Given the description of an element on the screen output the (x, y) to click on. 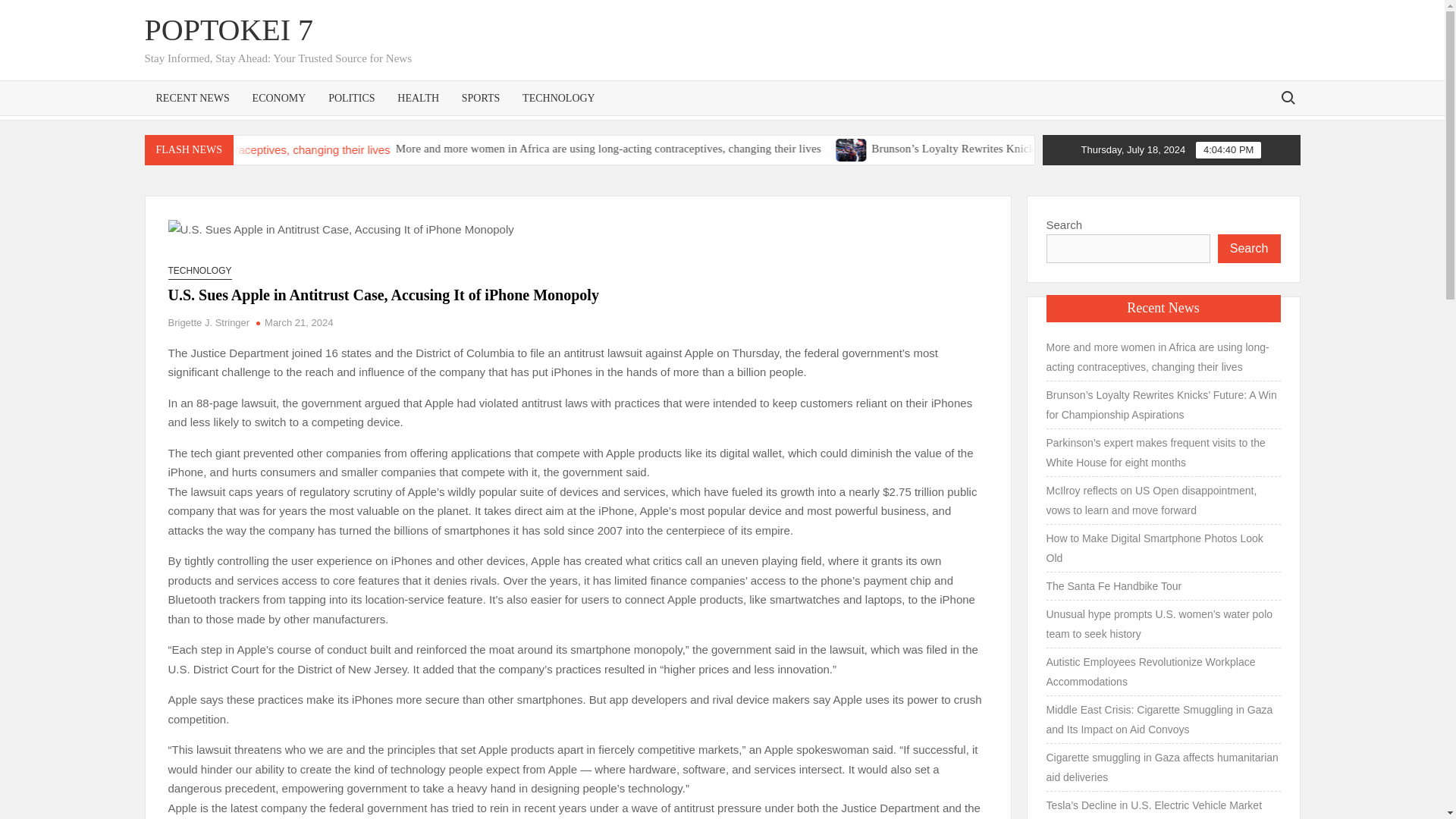
POPTOKEI 7 (228, 29)
Search for: (1287, 97)
ECONOMY (279, 97)
POLITICS (351, 97)
RECENT NEWS (192, 97)
HEALTH (417, 97)
TECHNOLOGY (559, 97)
SPORTS (480, 97)
